Given the description of an element on the screen output the (x, y) to click on. 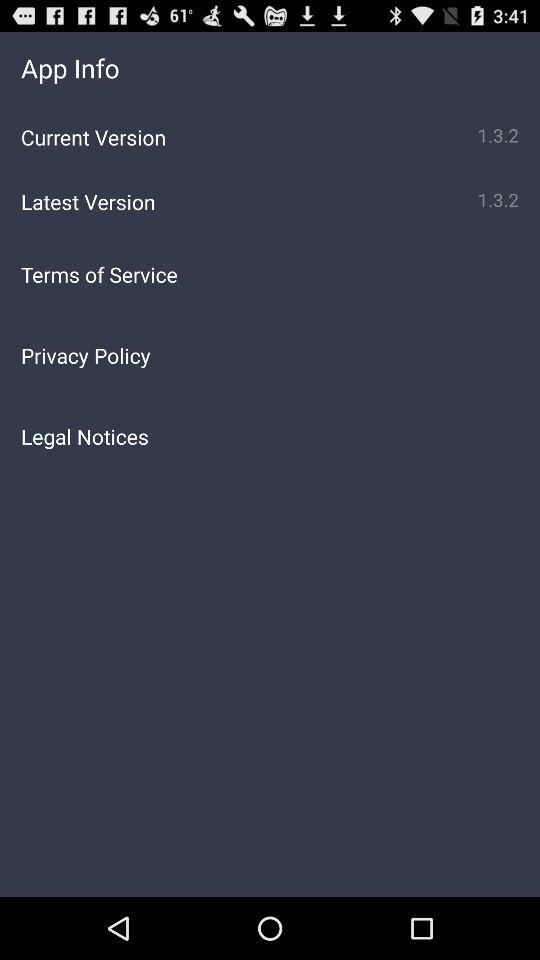
tap the privacy policy icon (270, 355)
